Given the description of an element on the screen output the (x, y) to click on. 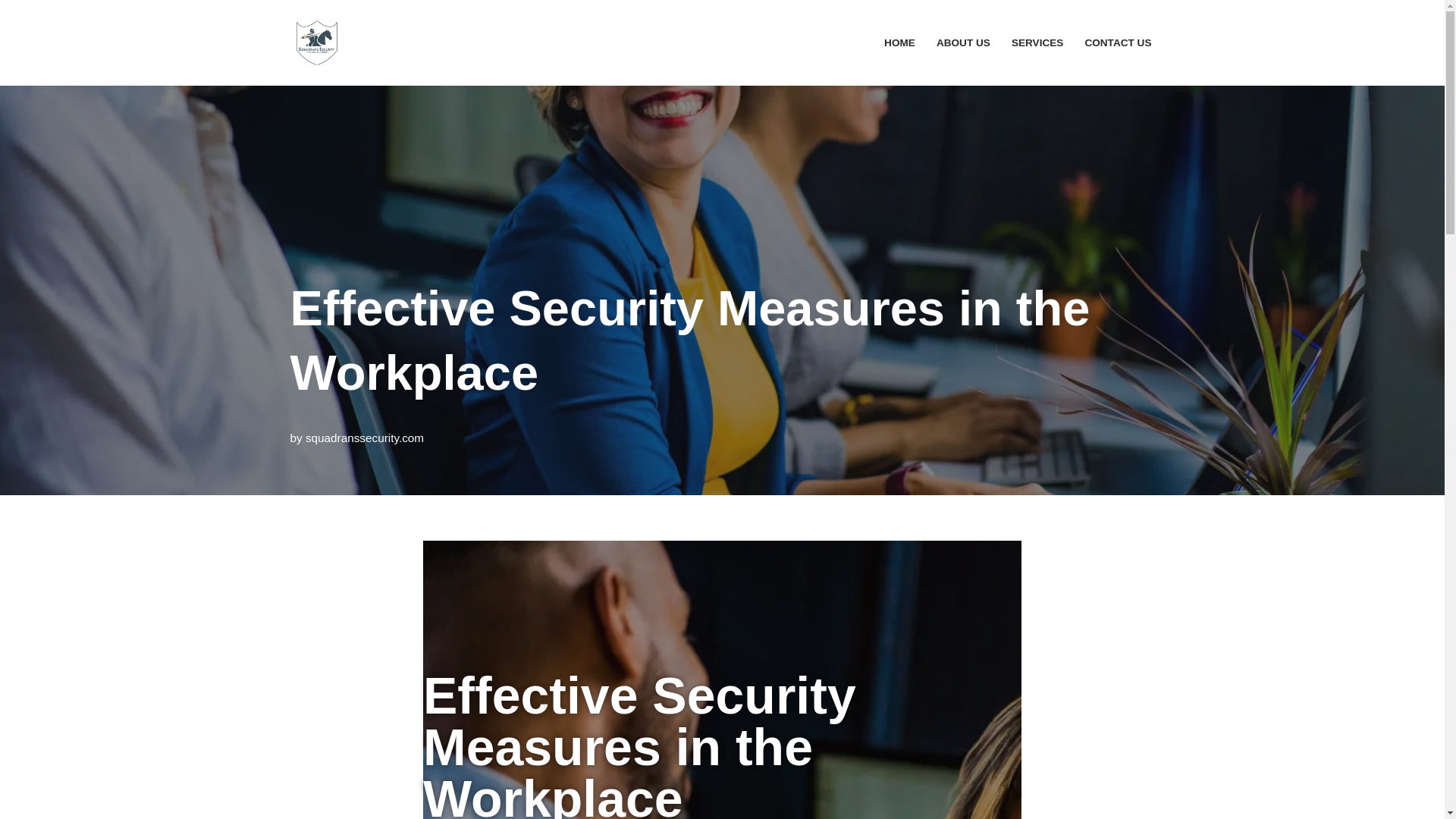
Skip to content (11, 31)
HOME (899, 42)
SERVICES (1037, 42)
Posts by squadranssecurity.com (364, 437)
ABOUT US (963, 42)
CONTACT US (1117, 42)
squadranssecurity.com (364, 437)
